Given the description of an element on the screen output the (x, y) to click on. 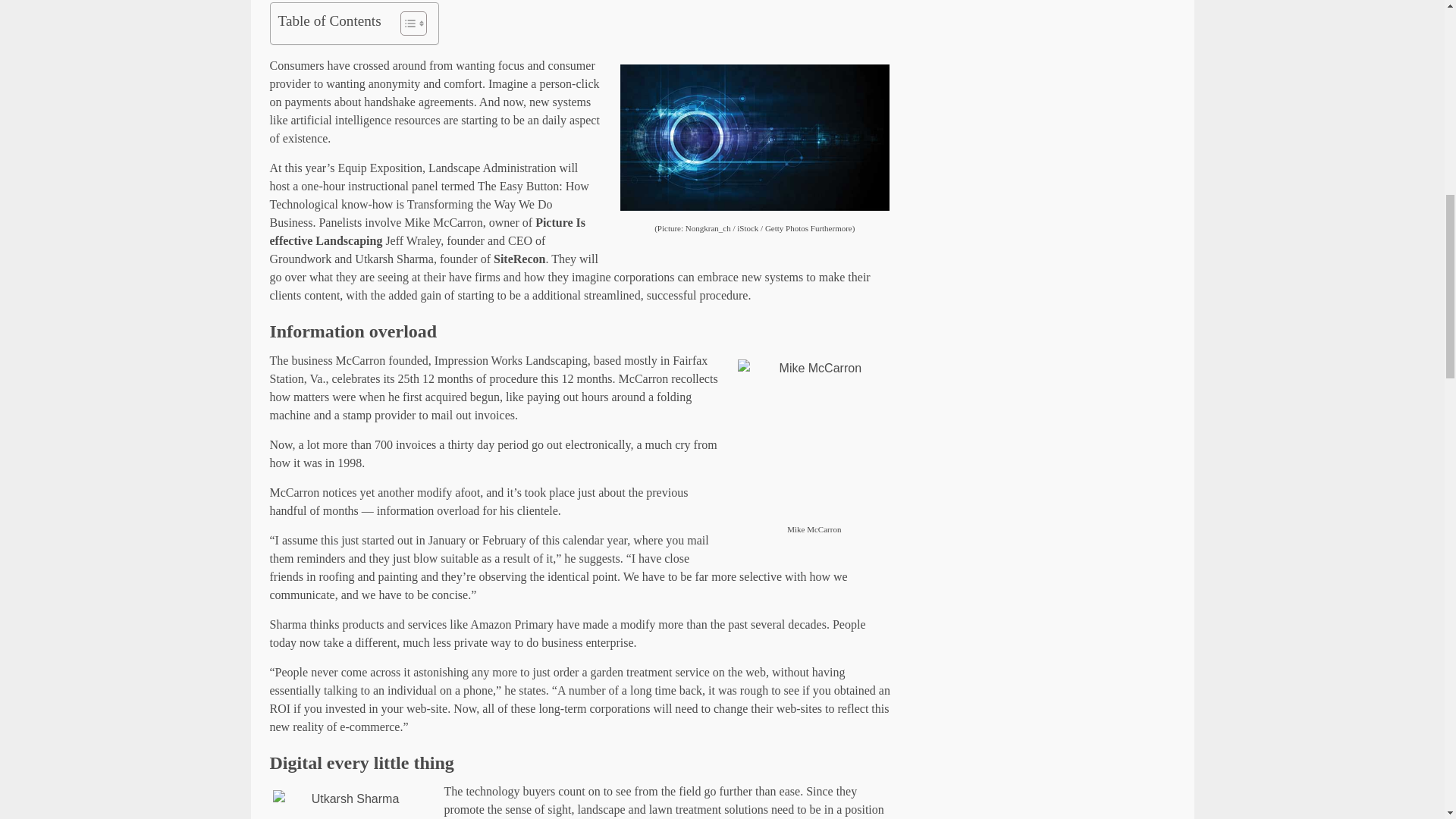
How know-how is switching the way we do business (754, 136)
Picture Is effective Landscaping (427, 231)
SiteRecon (518, 258)
